Given the description of an element on the screen output the (x, y) to click on. 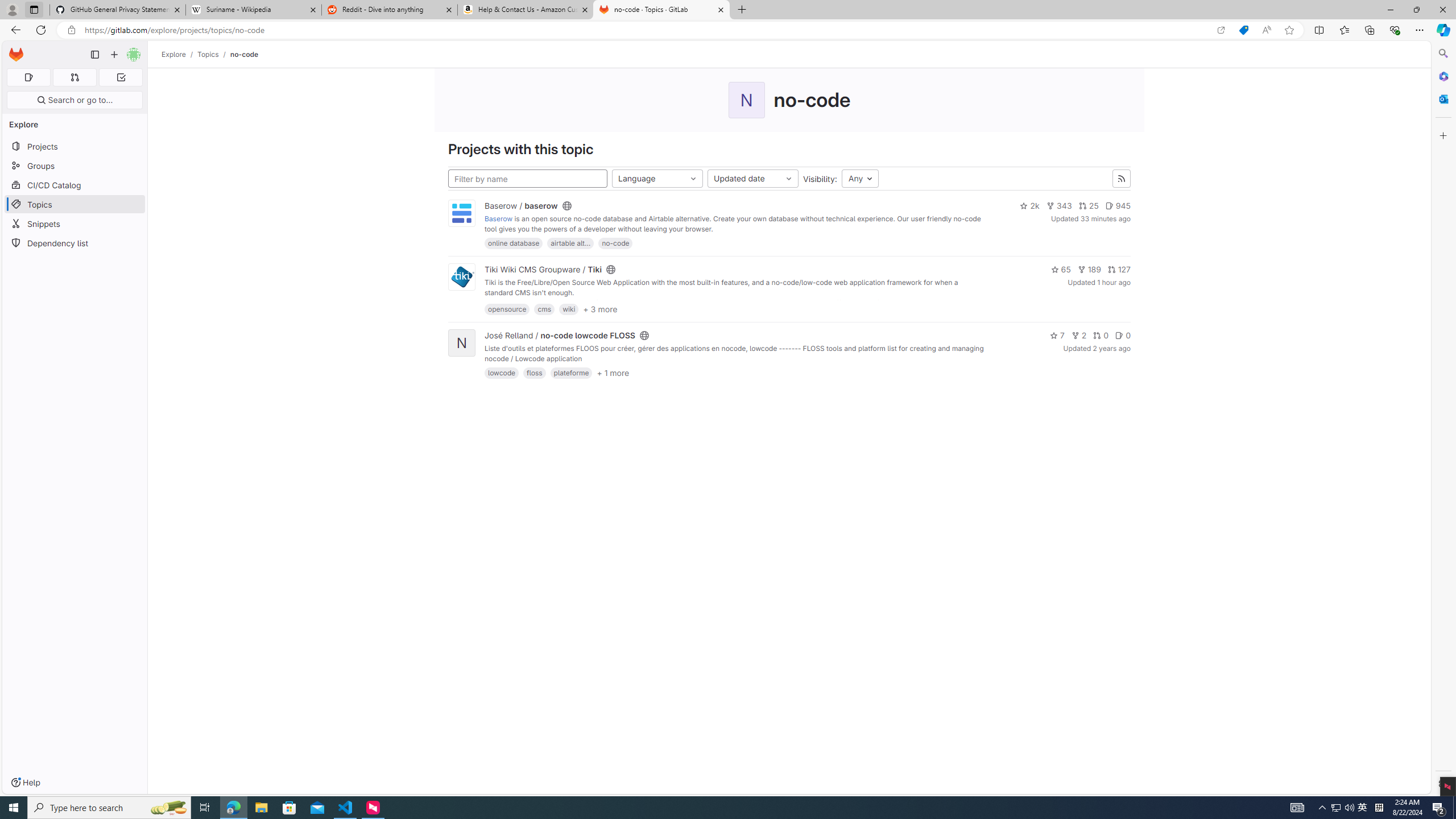
0 (1123, 335)
Class: s16 dropdown-menu-toggle-icon (788, 178)
GitHub General Privacy Statement - GitHub Docs (117, 9)
Class: project (462, 277)
